Given the description of an element on the screen output the (x, y) to click on. 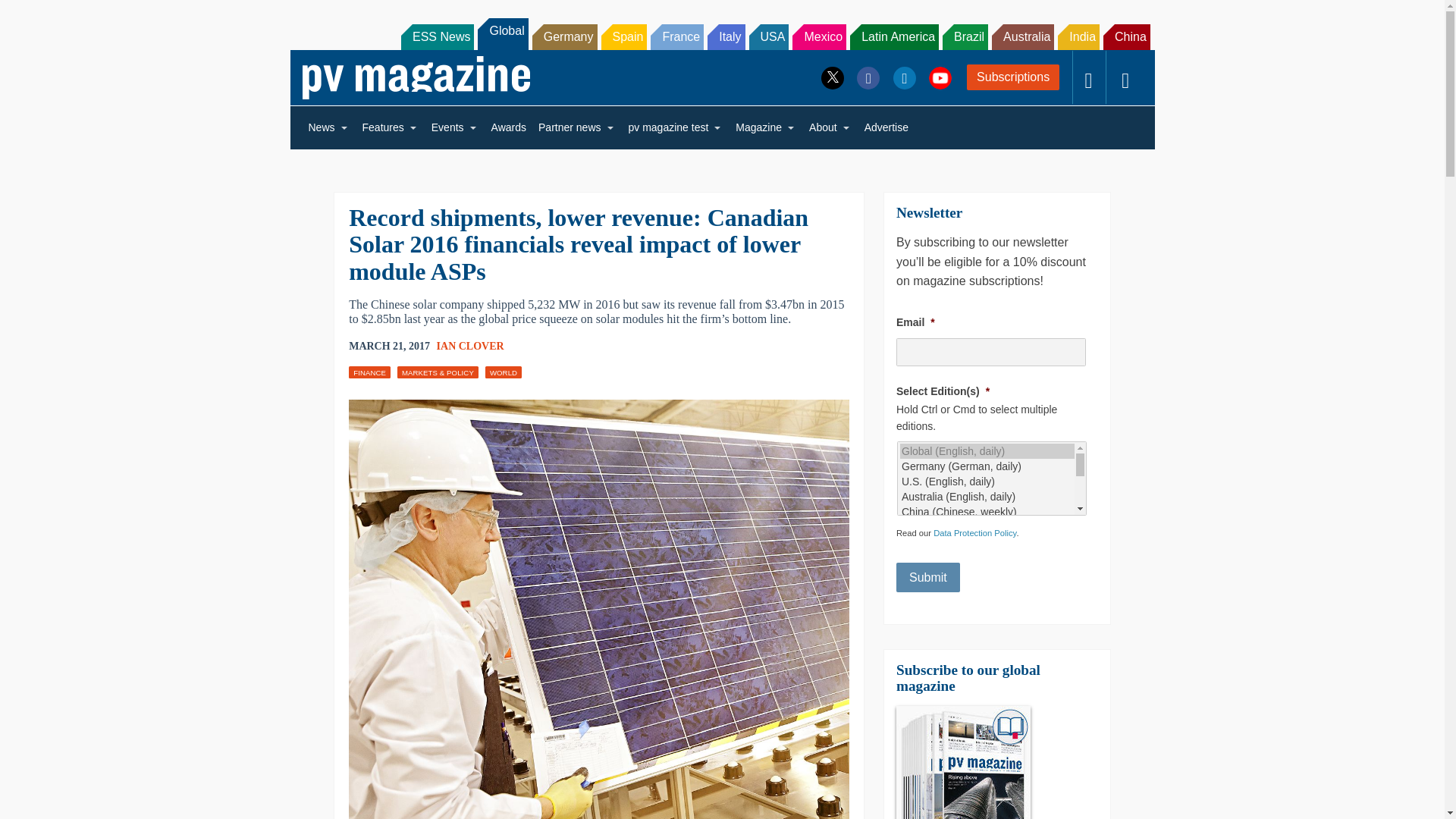
Posts by Ian Clover (469, 346)
pv magazine - Photovoltaics Markets and Technology (415, 77)
Italy (725, 36)
Global (502, 33)
USA (769, 36)
Latin America (894, 36)
Spain (622, 36)
Mexico (818, 36)
Tuesday, March 21, 2017, 2:27 pm (389, 346)
Subscriptions (1012, 77)
